Given the description of an element on the screen output the (x, y) to click on. 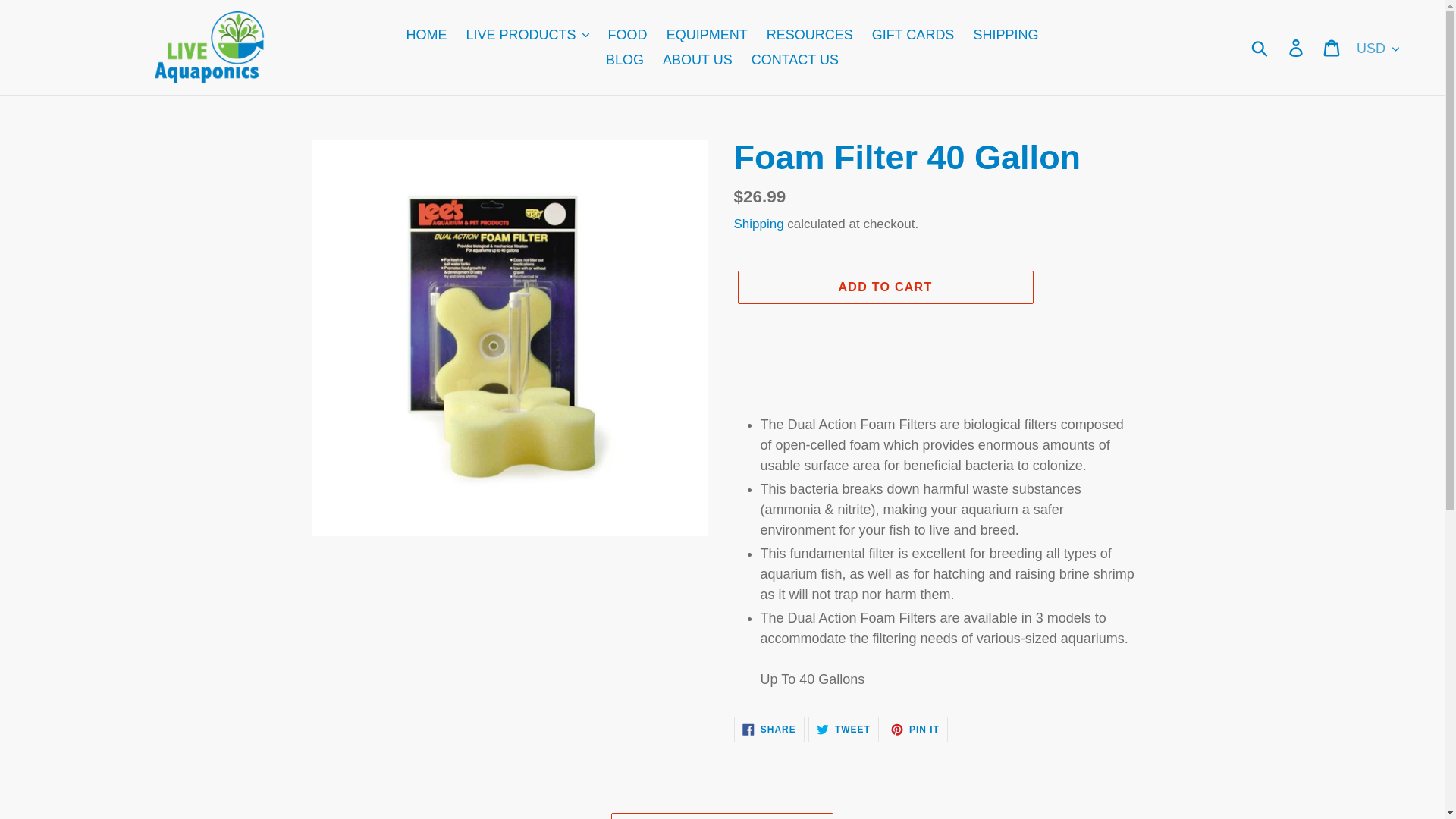
RESOURCES (809, 34)
Submit (1260, 46)
BLOG (624, 59)
CONTACT US (794, 59)
HOME (426, 34)
Log in (1296, 47)
SHIPPING (1005, 34)
Cart (1332, 47)
GIFT CARDS (913, 34)
FOOD (627, 34)
EQUIPMENT (707, 34)
ABOUT US (697, 59)
